Given the description of an element on the screen output the (x, y) to click on. 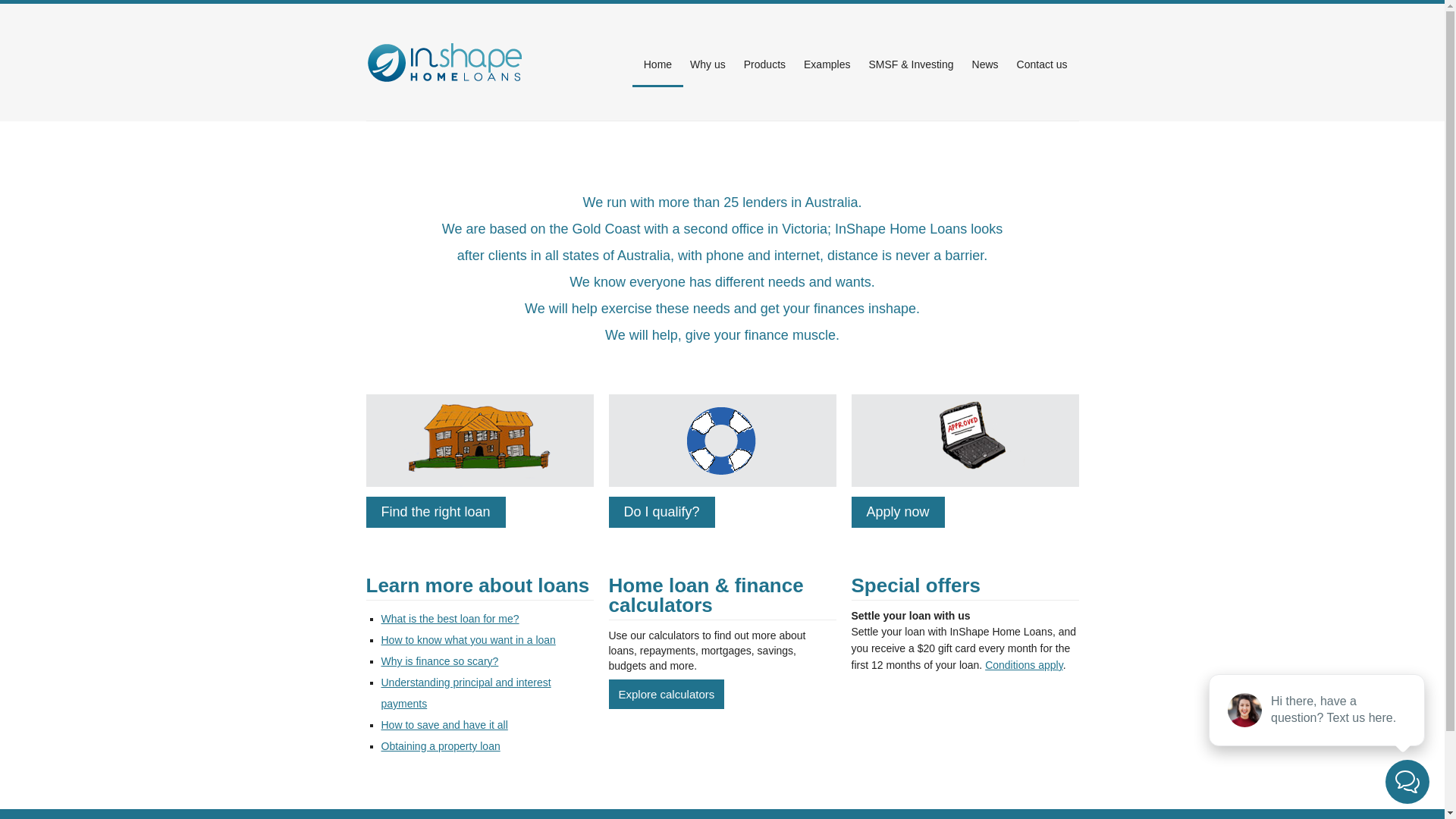
Do I qualify? Element type: text (661, 511)
Apply now Element type: text (897, 511)
Obtaining a property loan Element type: text (439, 746)
How to save and have it all Element type: text (443, 724)
Why is finance so scary? Element type: text (439, 661)
What is the best loan for me? Element type: text (449, 618)
Contact us Element type: text (1042, 62)
Conditions apply Element type: text (1023, 664)
Examples Element type: text (826, 62)
Products Element type: text (764, 62)
Why us Element type: text (707, 62)
Find the right loan Element type: text (435, 511)
News Element type: text (985, 62)
Understanding principal and interest payments Element type: text (465, 692)
Home Element type: text (657, 64)
How to know what you want in a loan Element type: text (467, 639)
Explore calculators Element type: text (666, 694)
SMSF & Investing Element type: text (910, 62)
